Given the description of an element on the screen output the (x, y) to click on. 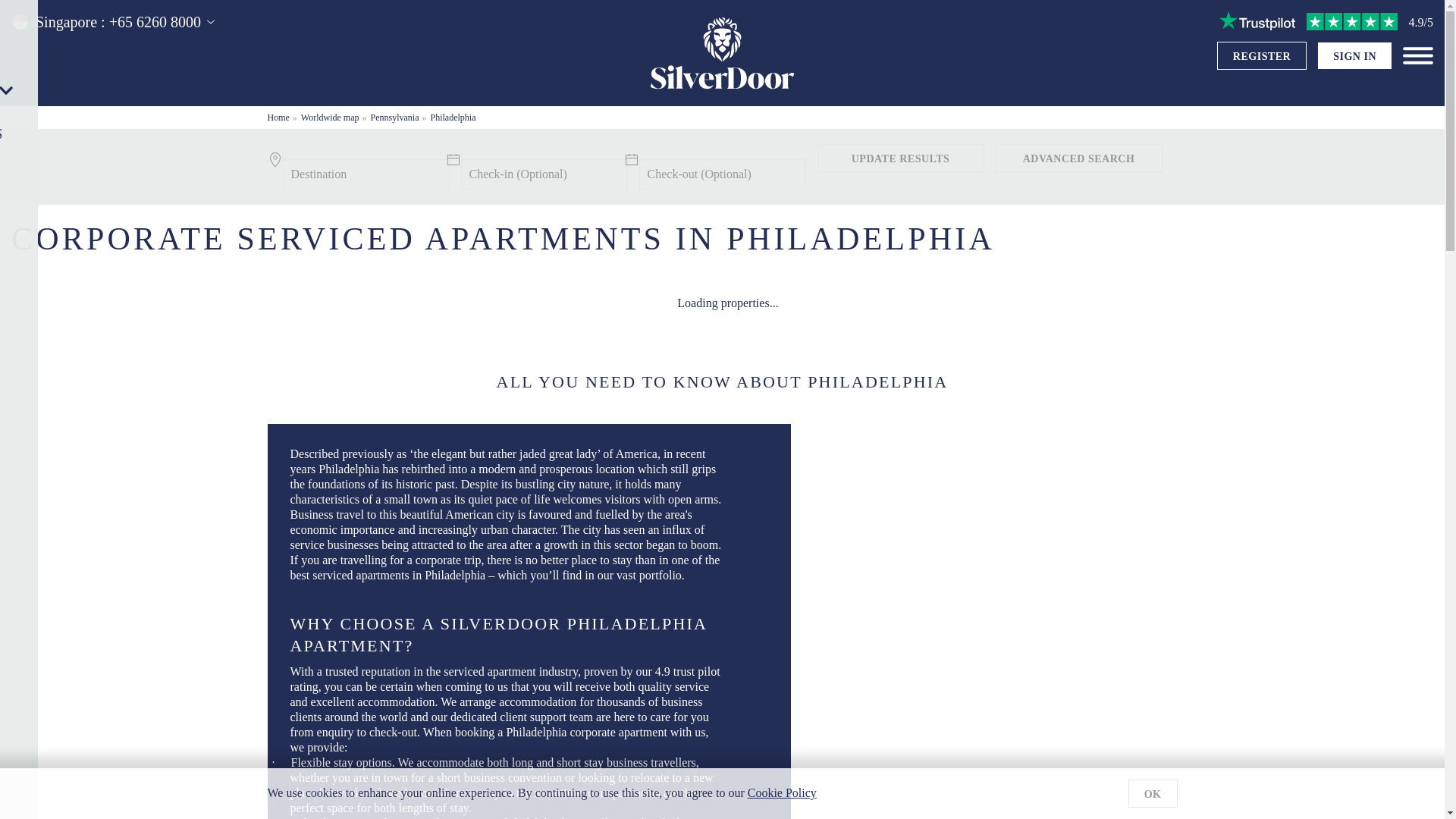
Pennsylvania (395, 117)
SIGN IN (1354, 55)
REGISTER (1261, 55)
Worldwide map (330, 117)
ADVANCED SEARCH (1077, 158)
UPDATE RESULTS (900, 158)
Home (277, 117)
Philadelphia (453, 117)
